Given the description of an element on the screen output the (x, y) to click on. 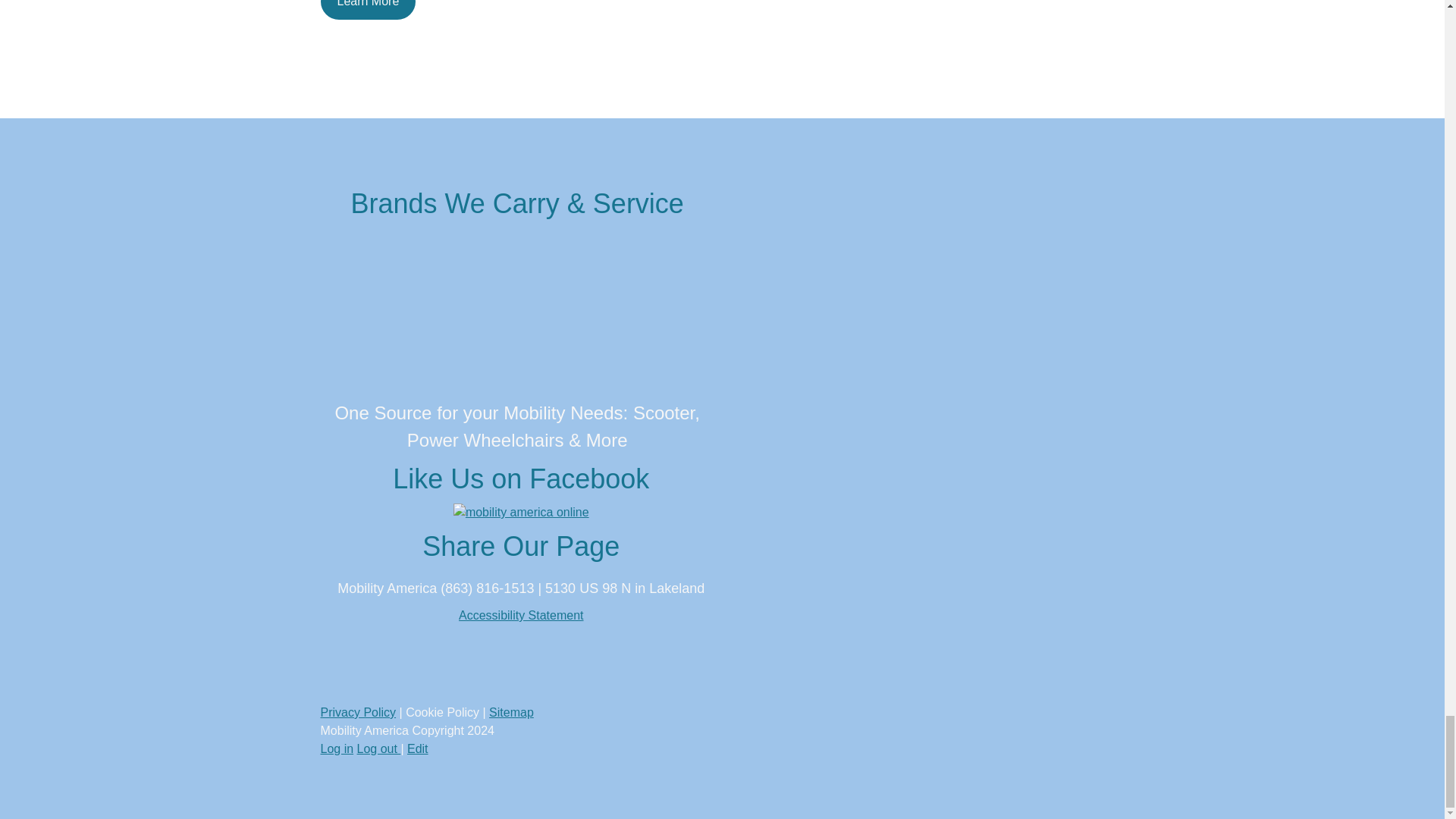
Accessibility Statement (520, 615)
